Given the description of an element on the screen output the (x, y) to click on. 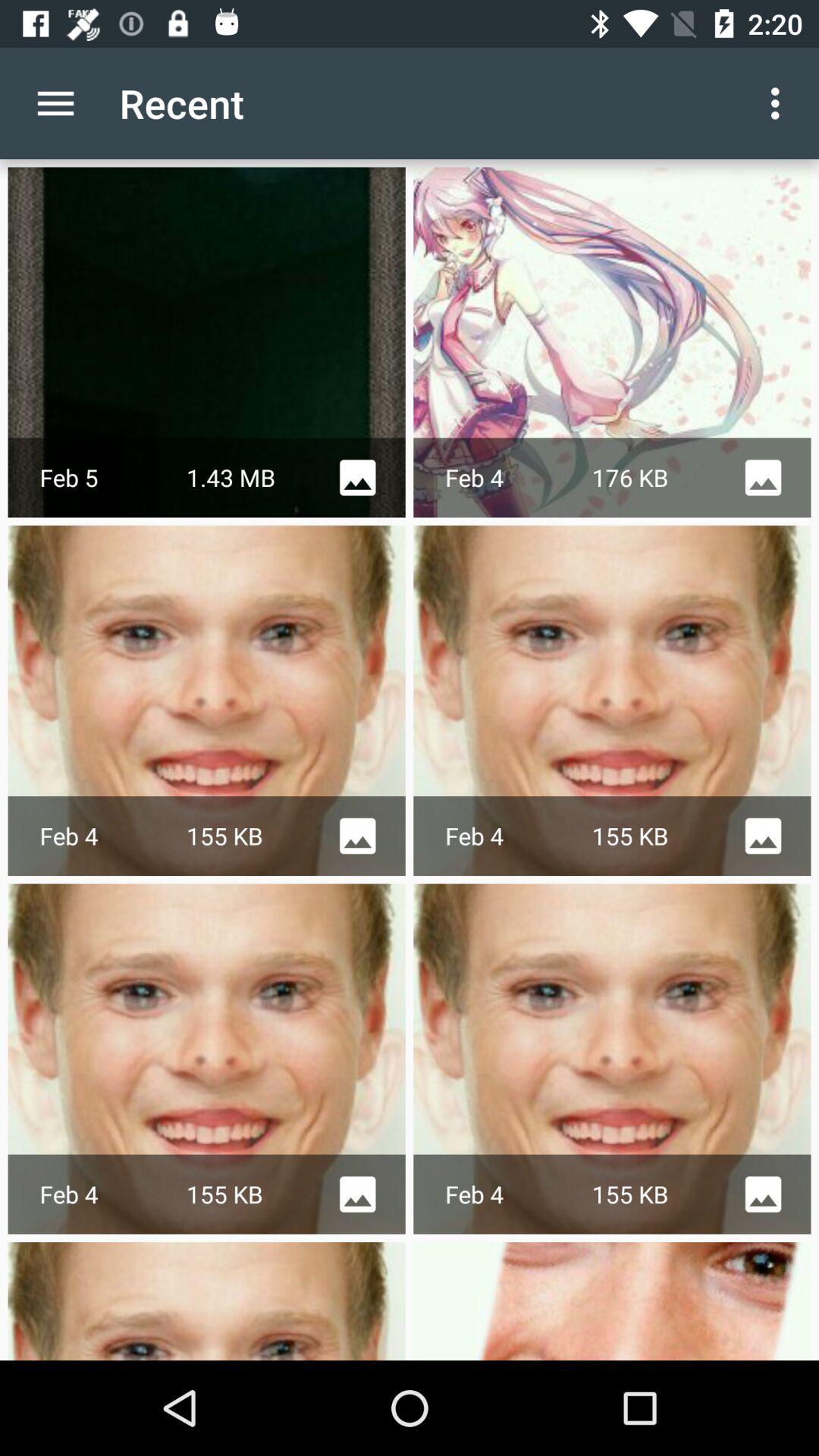
launch icon next to the recent app (55, 103)
